Given the description of an element on the screen output the (x, y) to click on. 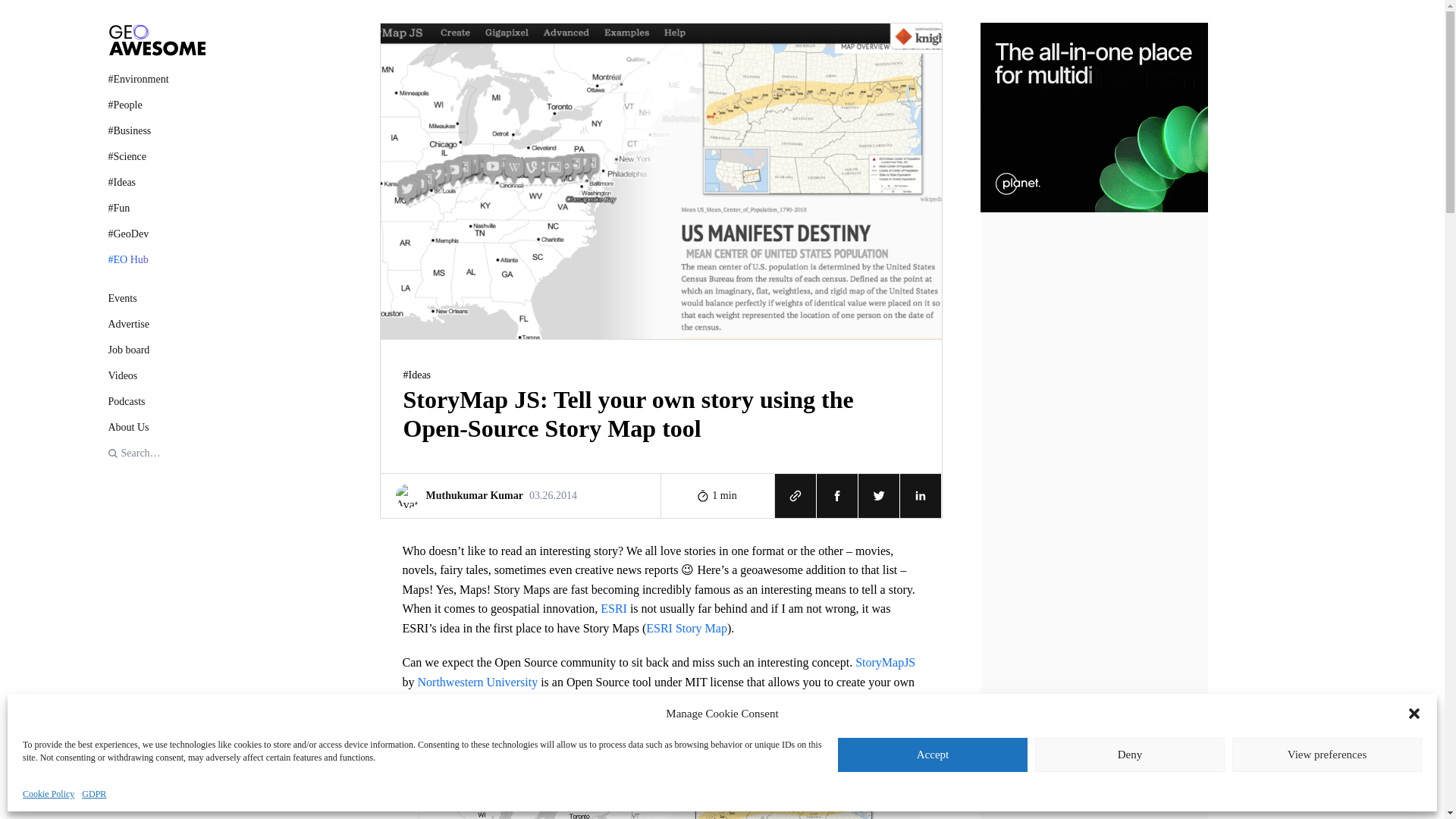
About Us (156, 426)
1 min (520, 494)
Videos (717, 494)
ESRI (156, 375)
Advertise (613, 608)
Podcasts (156, 324)
Events (156, 401)
Job board (156, 298)
